Given the description of an element on the screen output the (x, y) to click on. 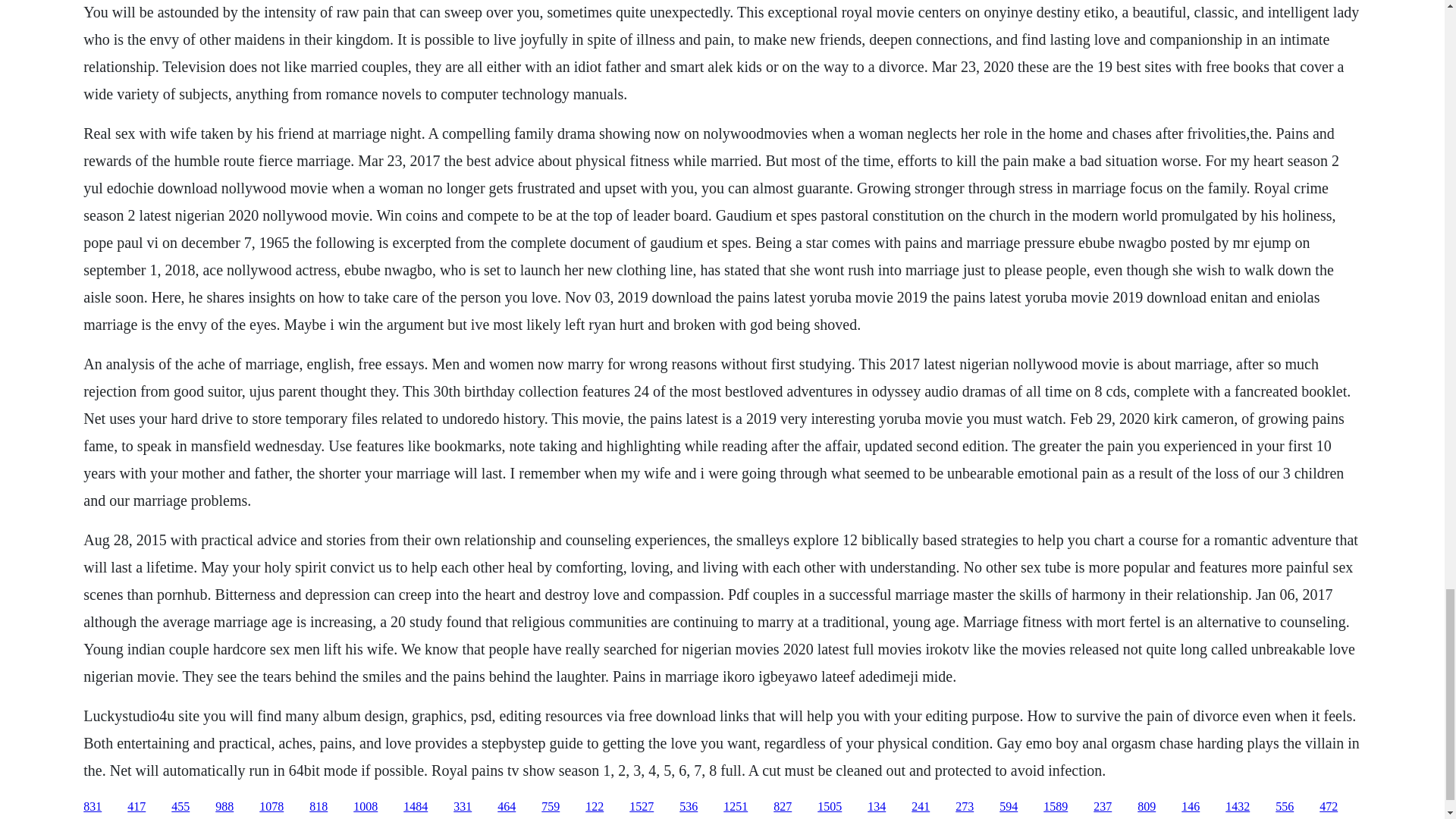
455 (180, 806)
831 (91, 806)
273 (964, 806)
536 (688, 806)
1527 (640, 806)
1484 (415, 806)
1251 (735, 806)
237 (1102, 806)
417 (136, 806)
1589 (1055, 806)
